Given the description of an element on the screen output the (x, y) to click on. 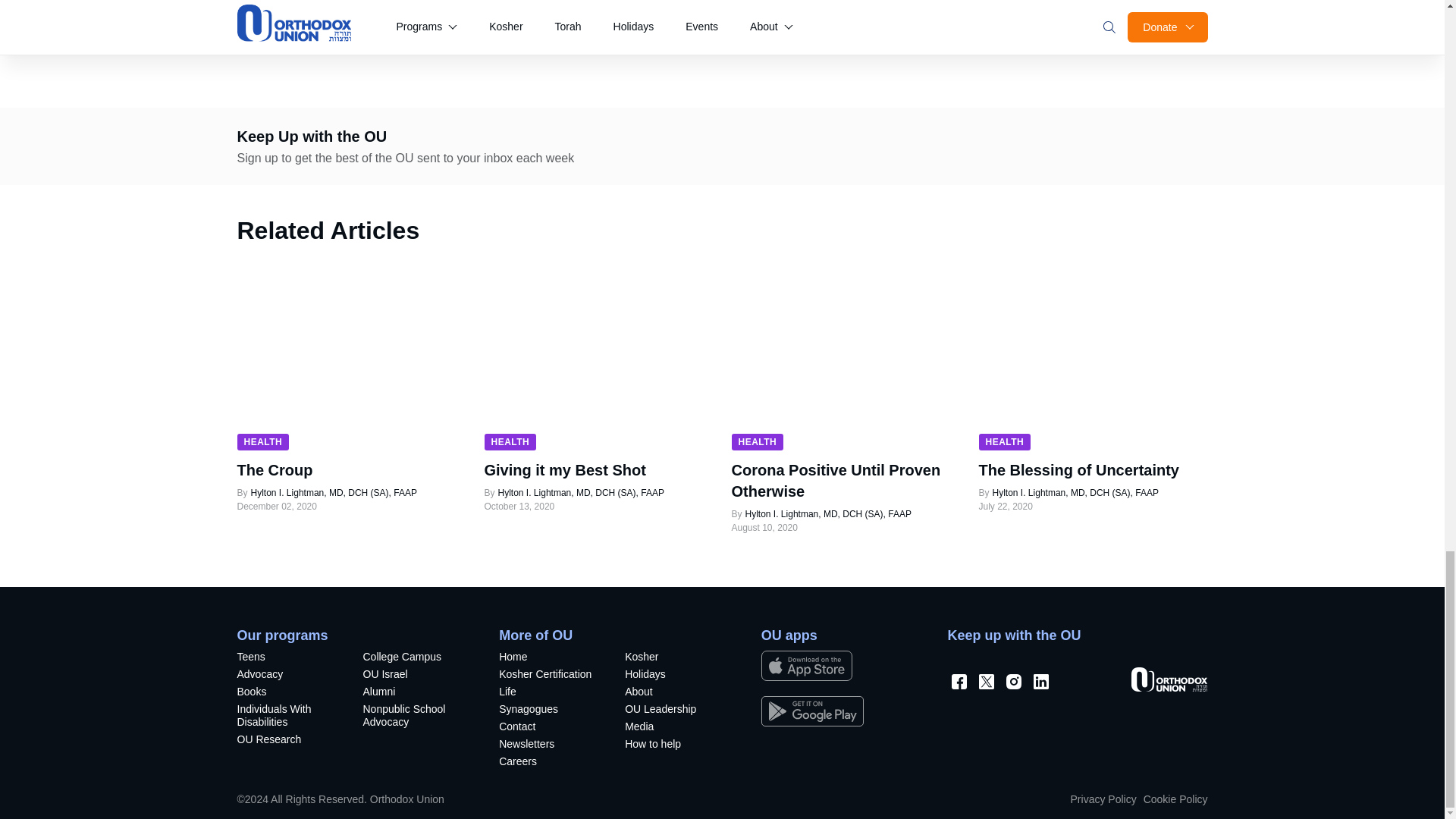
OU Research (286, 741)
How to get kosher certification (549, 675)
teachcoalition (413, 717)
